Given the description of an element on the screen output the (x, y) to click on. 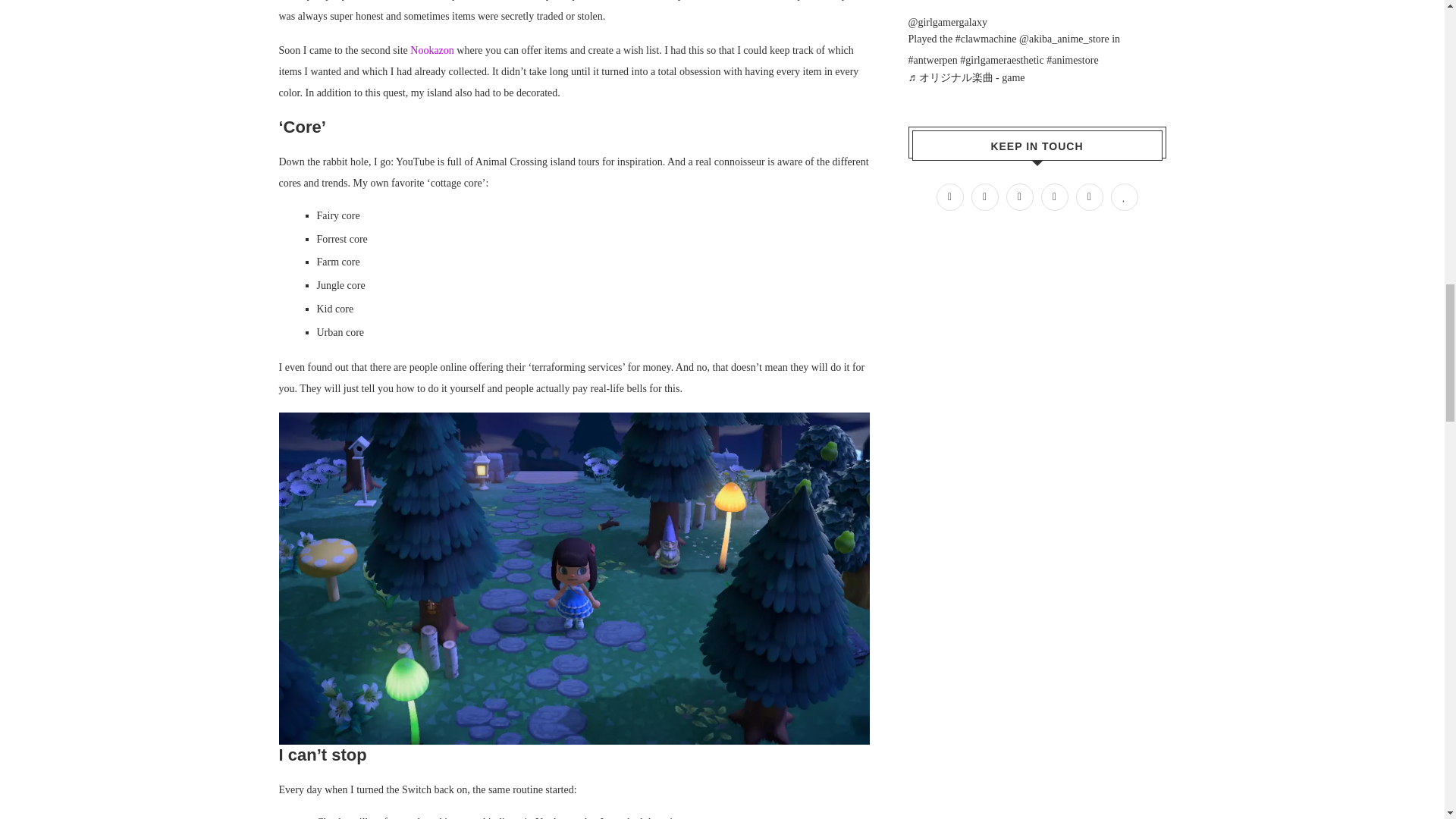
animestore (1071, 60)
antwerpen (933, 60)
clawmachine (985, 39)
girlgameraesthetic (1001, 60)
